Given the description of an element on the screen output the (x, y) to click on. 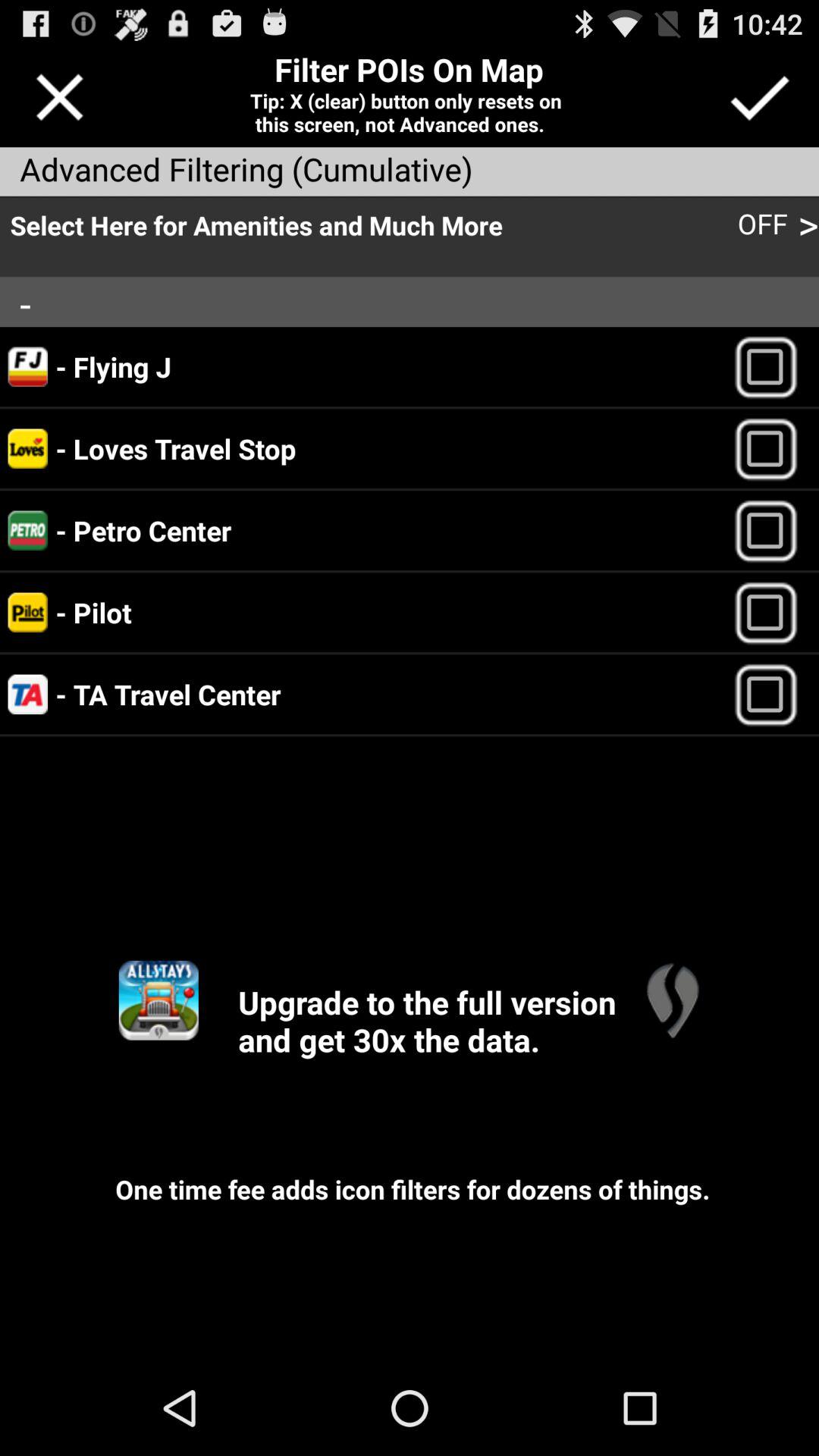
apply filter and proceed (759, 97)
